Given the description of an element on the screen output the (x, y) to click on. 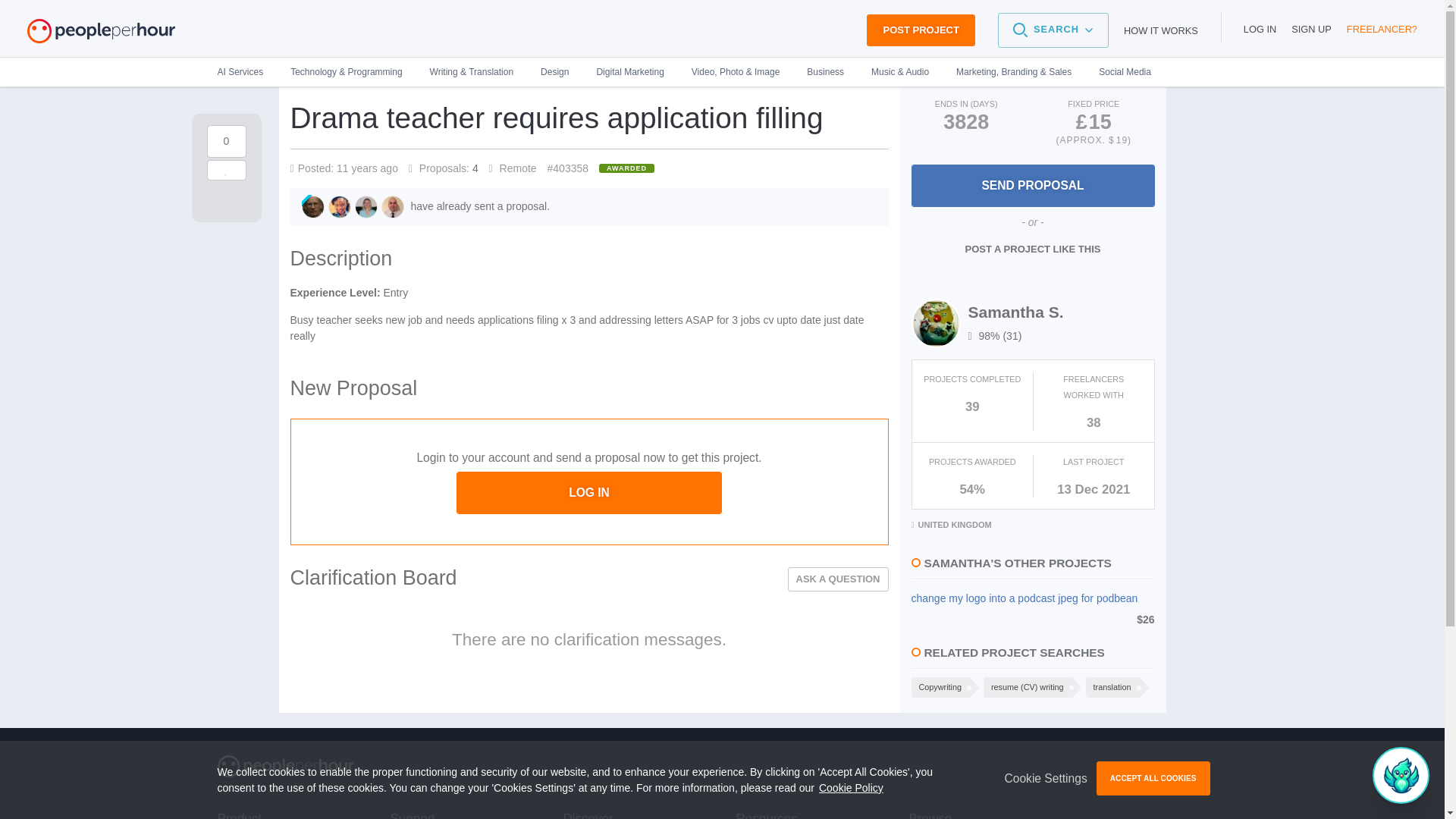
User Rating and Reviews (995, 336)
Send Proposal (1032, 185)
Samantha S. (1015, 312)
Change my logo into a podcast jpeg for podbean (1032, 598)
Samantha S. (1015, 312)
change my logo into a podcast jpeg for podbean (1032, 598)
Log in (1259, 28)
FREELANCER? (1381, 28)
LOG IN (1259, 28)
Copywriting (938, 687)
